Given the description of an element on the screen output the (x, y) to click on. 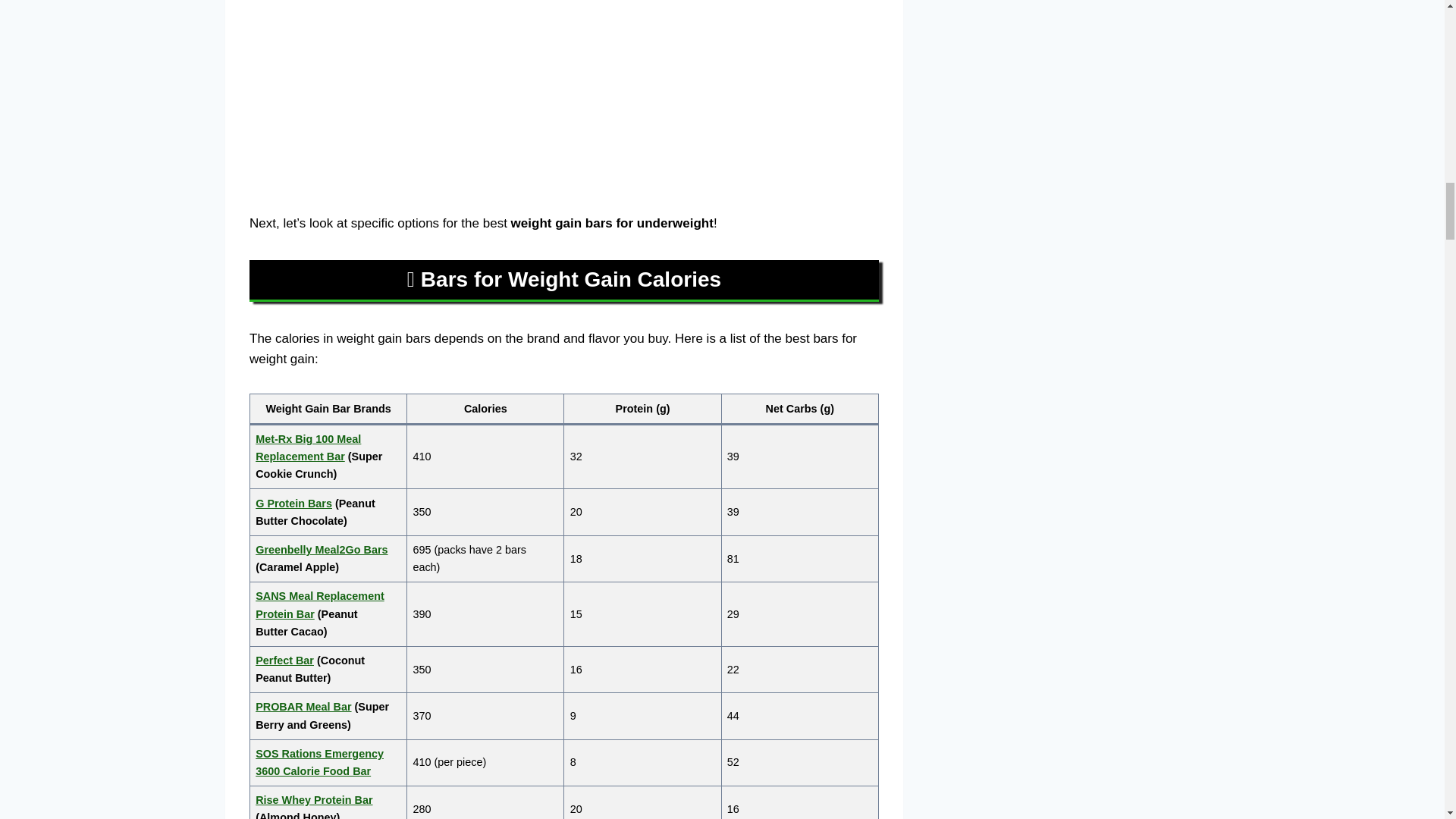
SANS Meal Replacement (320, 595)
Greenbelly Meal2Go Bars (321, 549)
SOS Rations Emergency (320, 753)
Rise Whey Protein Bar (314, 799)
Met-Rx Big 100 Meal (308, 439)
PROBAR Meal Bar (303, 706)
3600 Calorie Food Bar (313, 770)
Perfect Bar (285, 660)
Replacement Bar (300, 456)
G Protein Bars (293, 503)
